Given the description of an element on the screen output the (x, y) to click on. 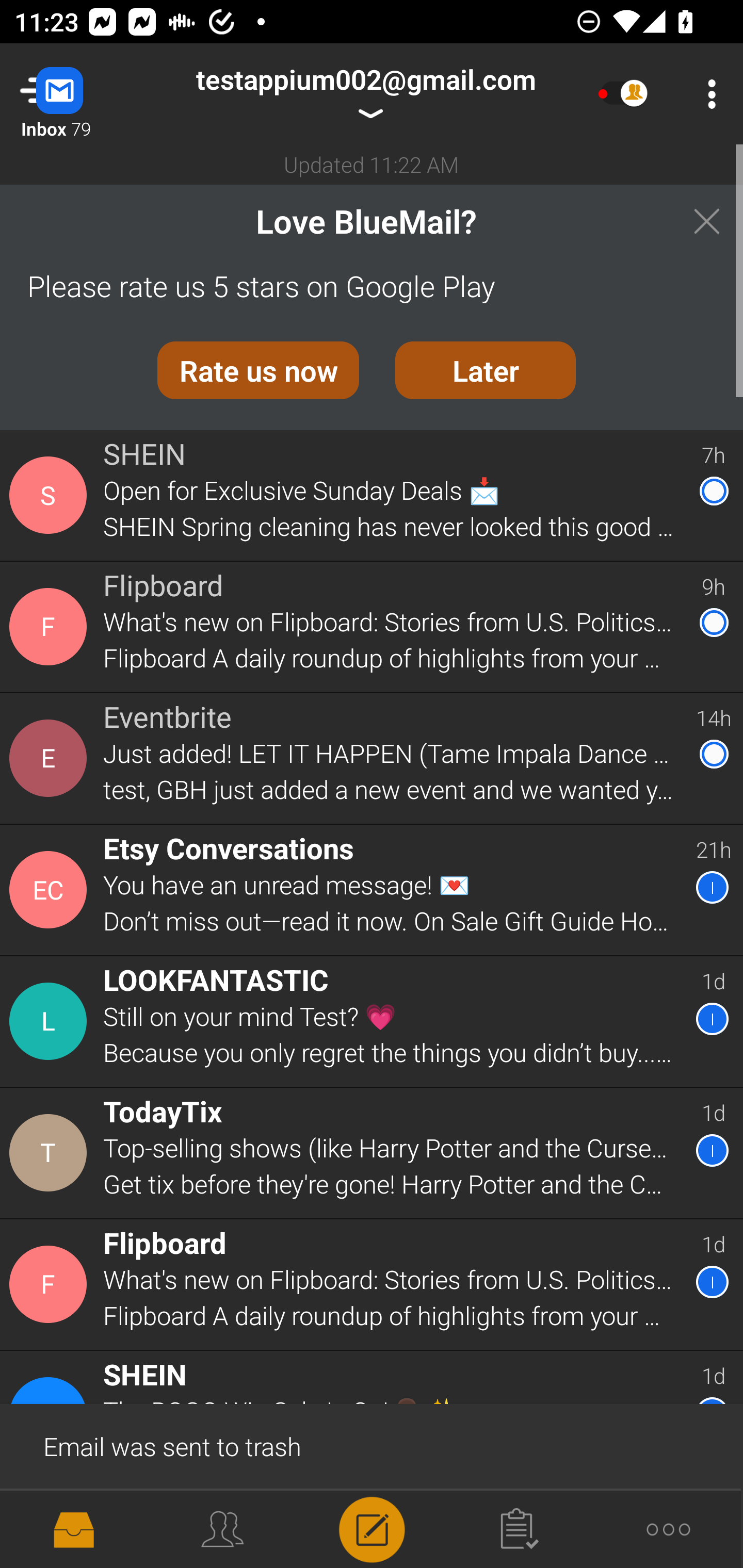
Navigate up (81, 93)
testappium002@gmail.com (365, 93)
More Options (706, 93)
Updated 11:22 AM (371, 164)
Rate us now (257, 370)
Later (485, 370)
Contact Details (50, 495)
Contact Details (50, 626)
Contact Details (50, 758)
Contact Details (50, 889)
Contact Details (50, 1021)
Contact Details (50, 1153)
Contact Details (50, 1284)
Email was sent to trash (371, 1445)
Contact Details (50, 1524)
Compose (371, 1528)
